Given the description of an element on the screen output the (x, y) to click on. 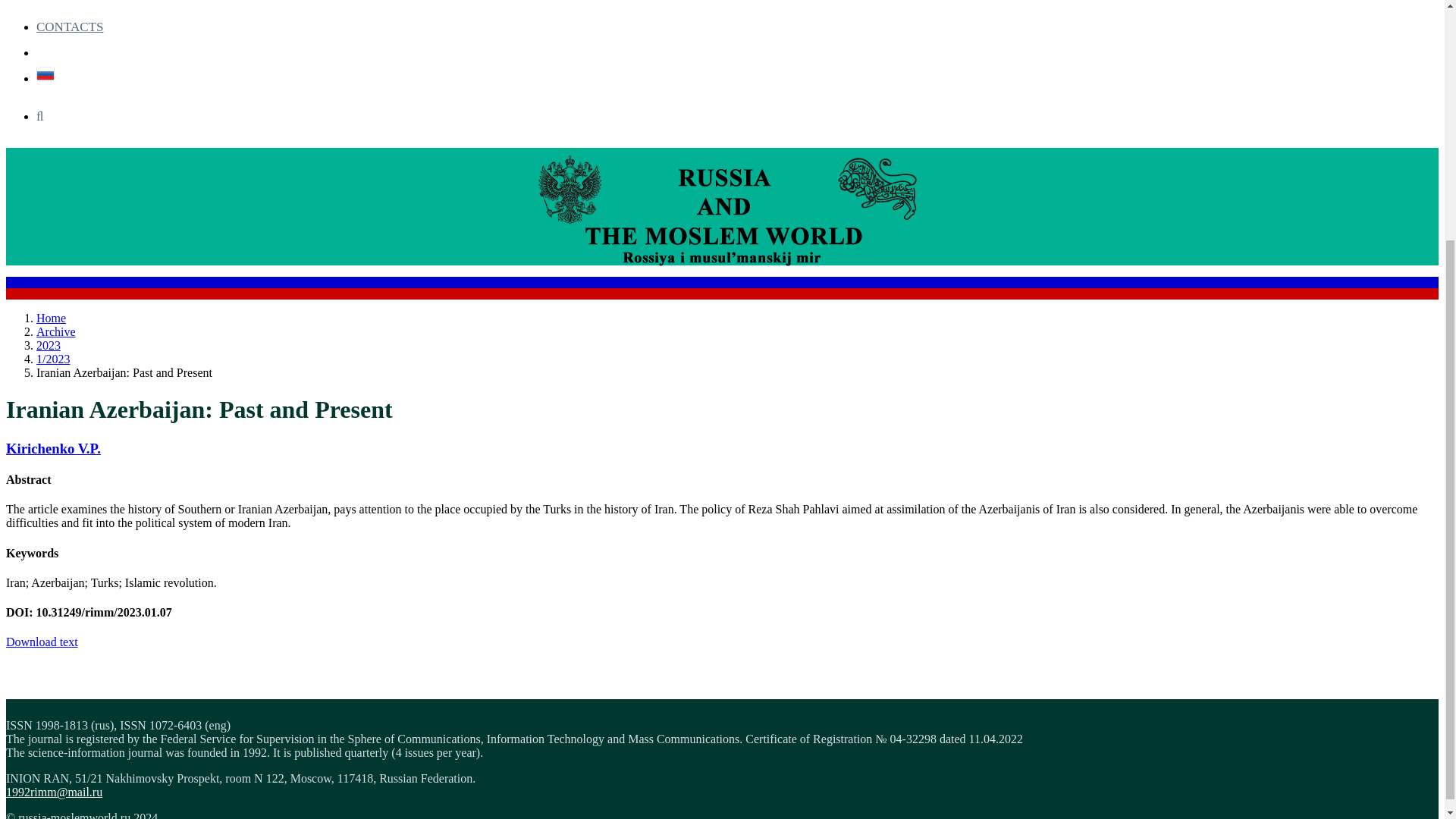
SUBSCRIPTION (82, 5)
Home (50, 318)
Archive (55, 331)
Kirichenko V.P. (52, 448)
Download text (41, 641)
CONTACTS (69, 26)
2023 (48, 345)
